Given the description of an element on the screen output the (x, y) to click on. 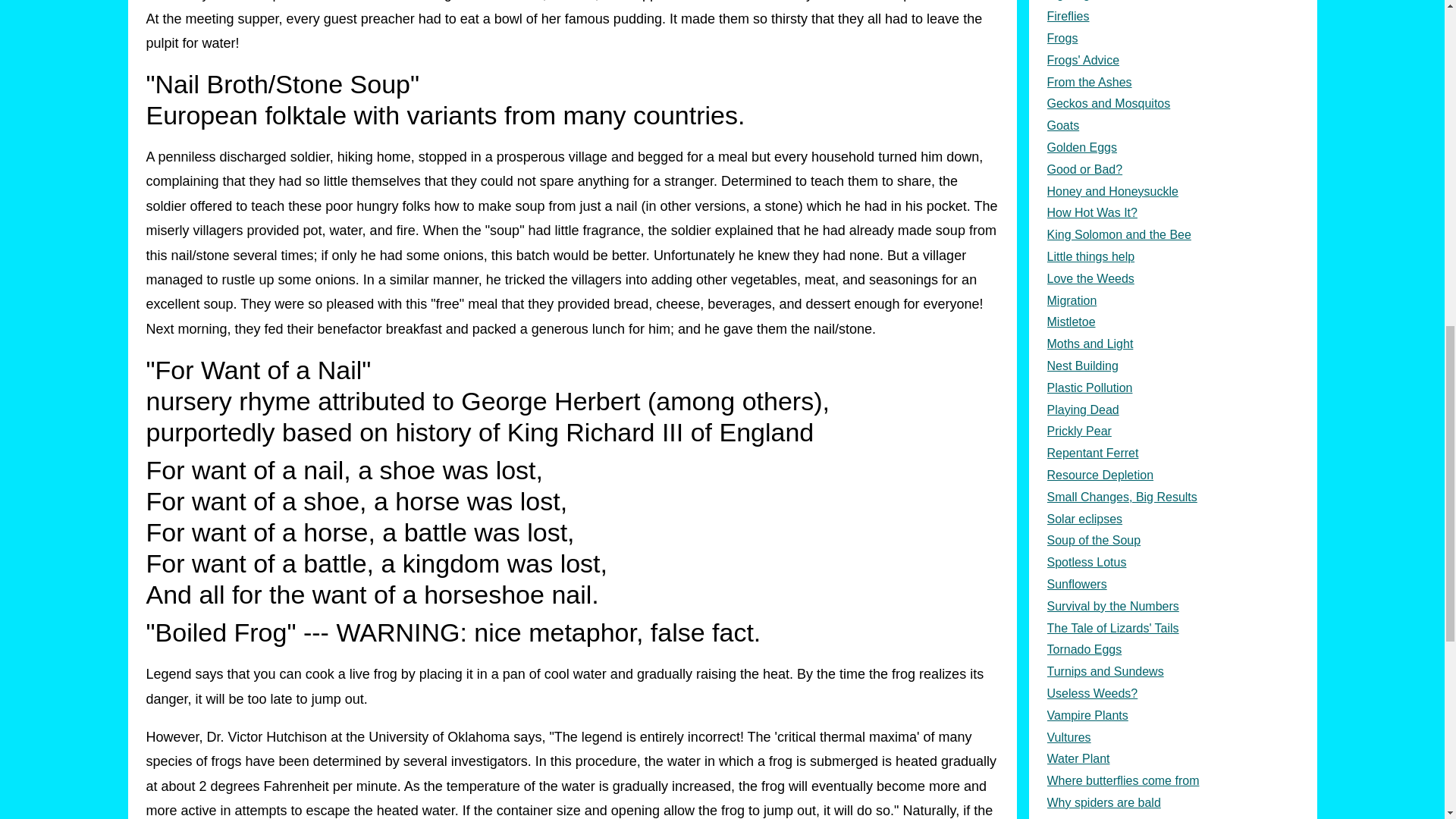
Fighting fire (1172, 2)
Goats (1172, 126)
Fireflies (1172, 16)
Frogs' Advice (1172, 60)
Geckos and Mosquitos (1172, 104)
From the Ashes (1172, 83)
Frogs (1172, 38)
